Given the description of an element on the screen output the (x, y) to click on. 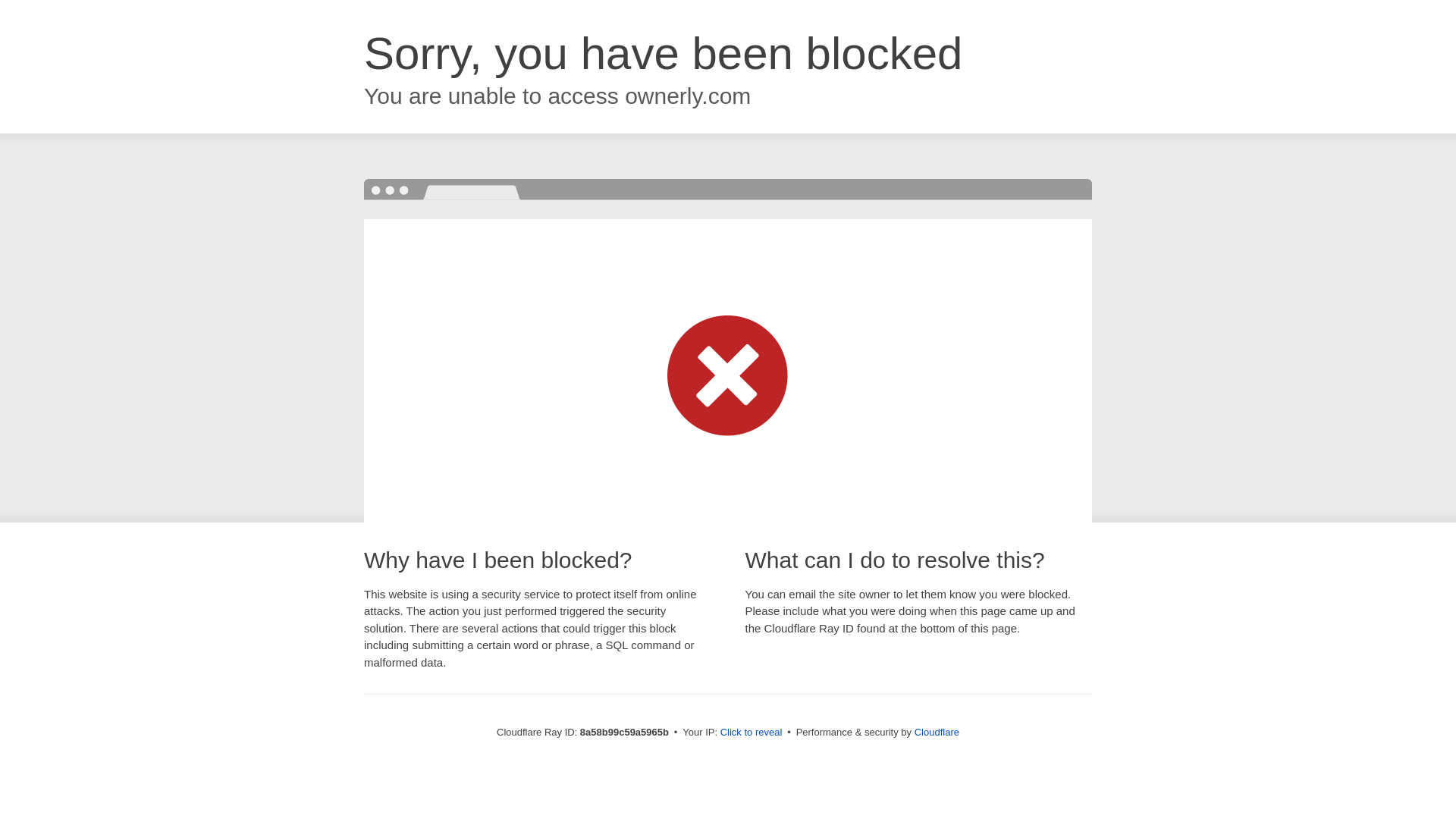
Cloudflare (936, 731)
Click to reveal (751, 732)
